Given the description of an element on the screen output the (x, y) to click on. 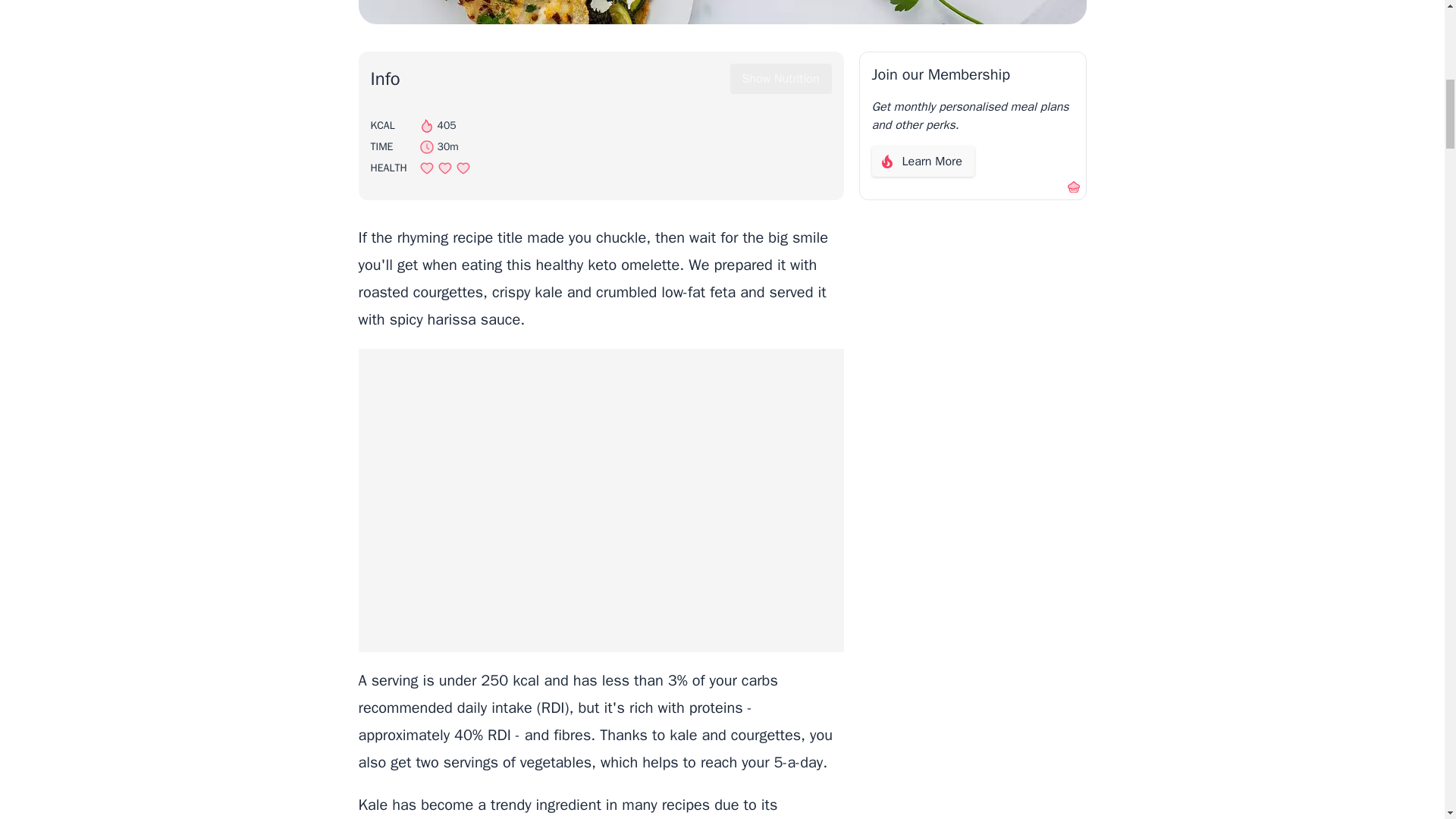
Show Nutrition (780, 78)
